Given the description of an element on the screen output the (x, y) to click on. 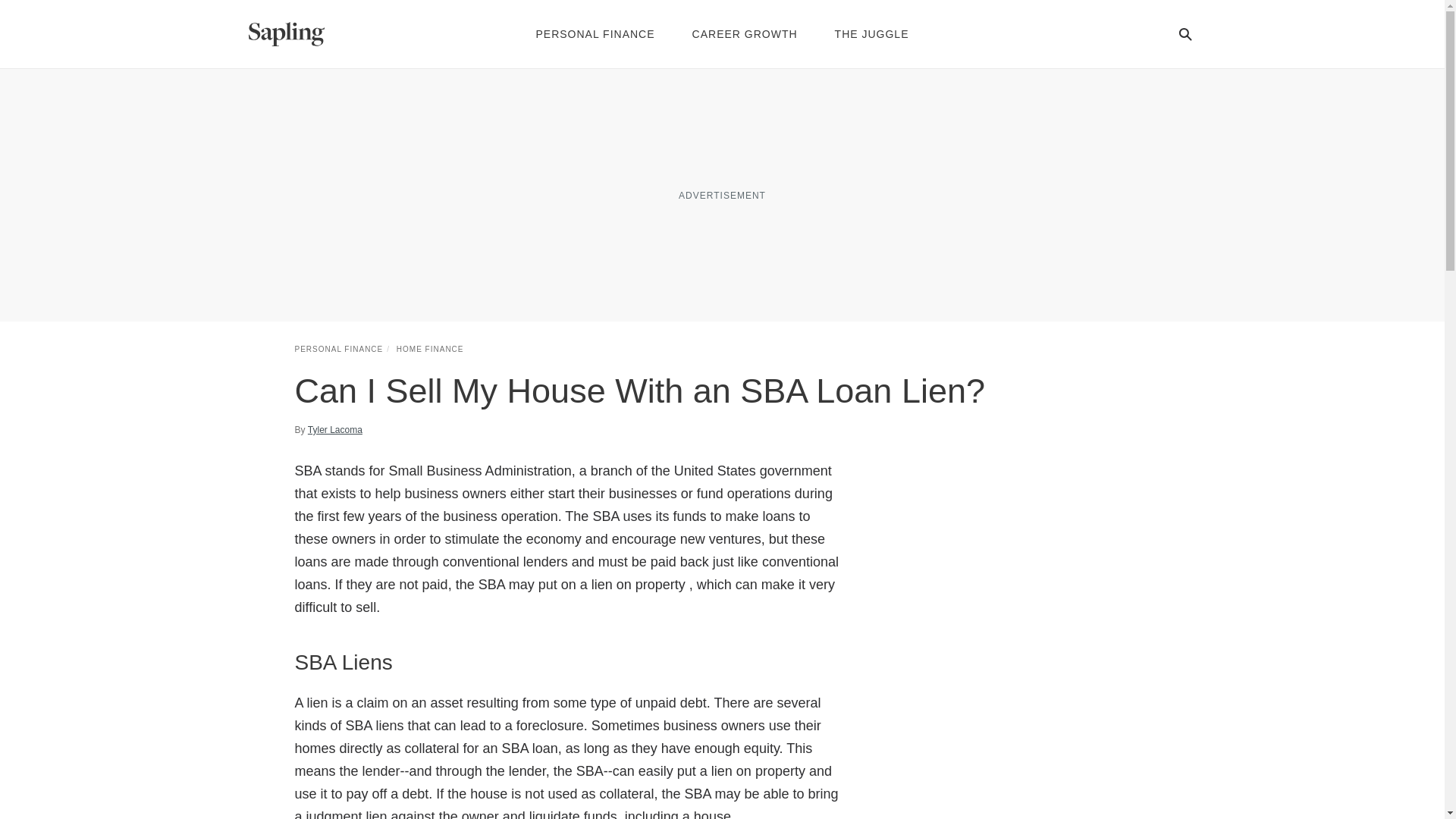
HOME FINANCE (430, 348)
Tyler Lacoma (334, 429)
PERSONAL FINANCE (338, 348)
